Given the description of an element on the screen output the (x, y) to click on. 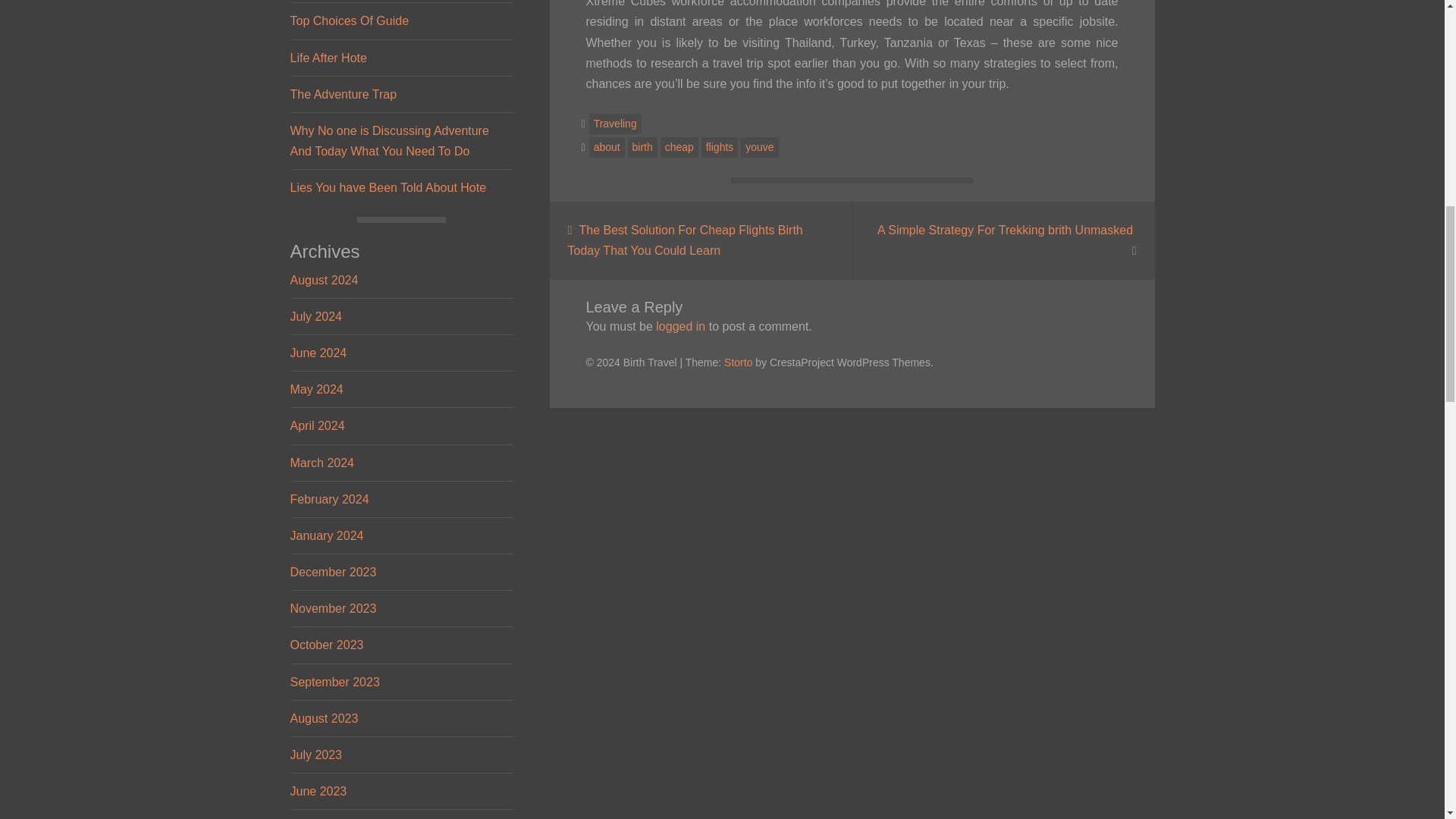
August 2024 (323, 279)
The Adventure Trap (342, 93)
June 2024 (317, 352)
Lies You have Been Told About Hote (387, 187)
August 2023 (323, 717)
May 2024 (315, 389)
September 2023 (333, 681)
November 2023 (332, 608)
Storto Theme (737, 362)
July 2024 (315, 316)
